Given the description of an element on the screen output the (x, y) to click on. 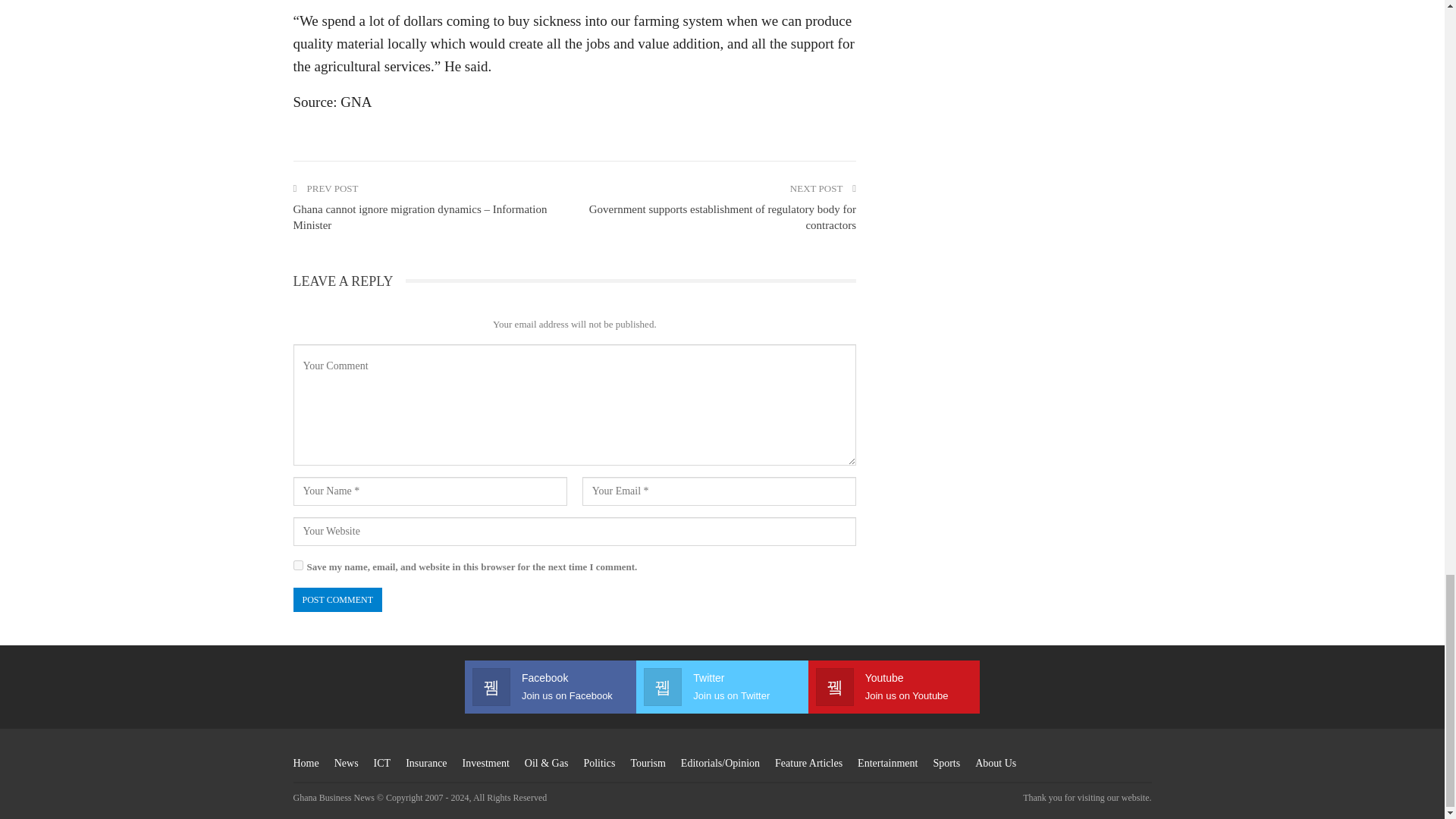
yes (297, 565)
Post Comment (336, 599)
